Given the description of an element on the screen output the (x, y) to click on. 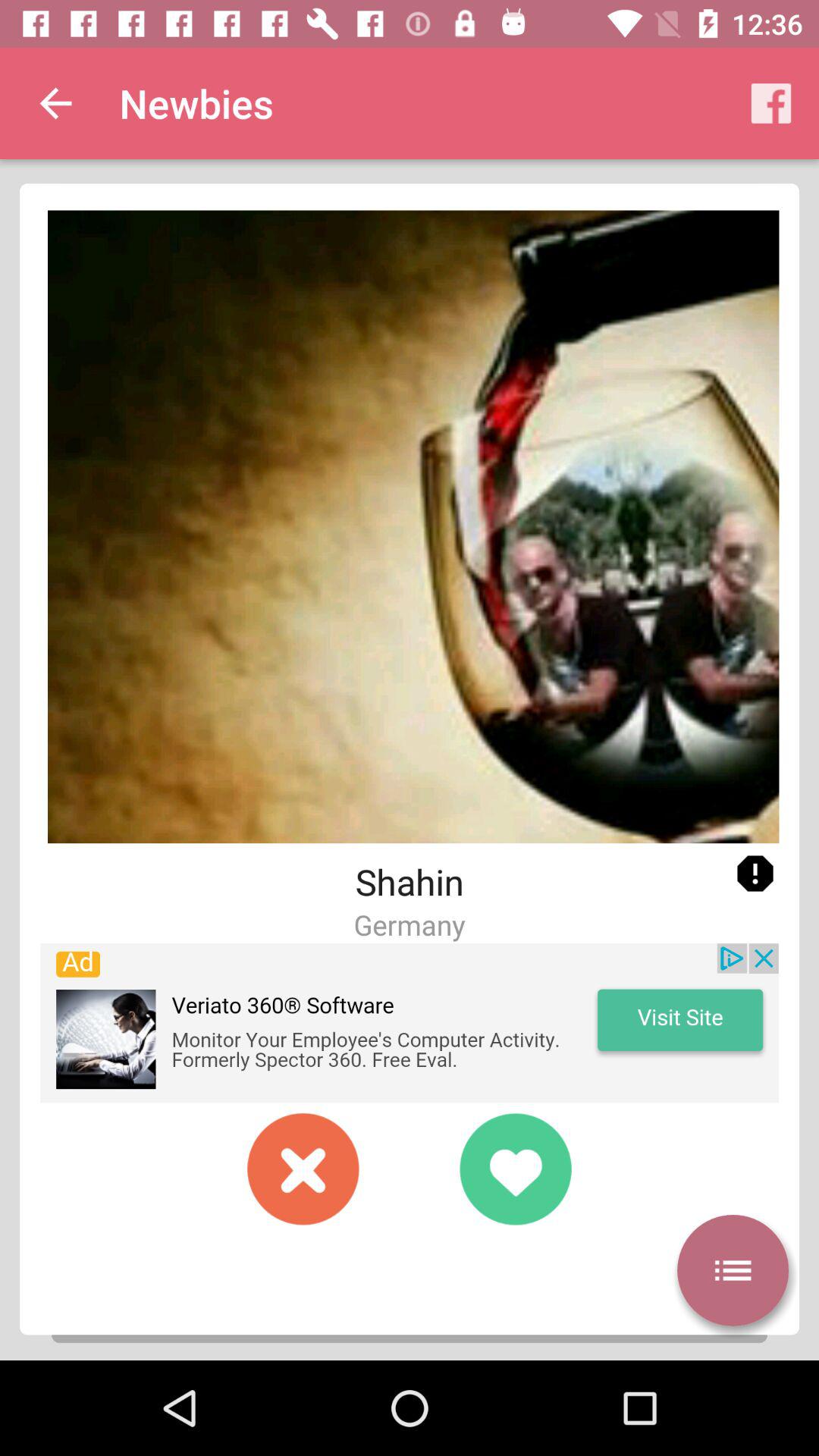
open the advertisement (409, 1022)
